Given the description of an element on the screen output the (x, y) to click on. 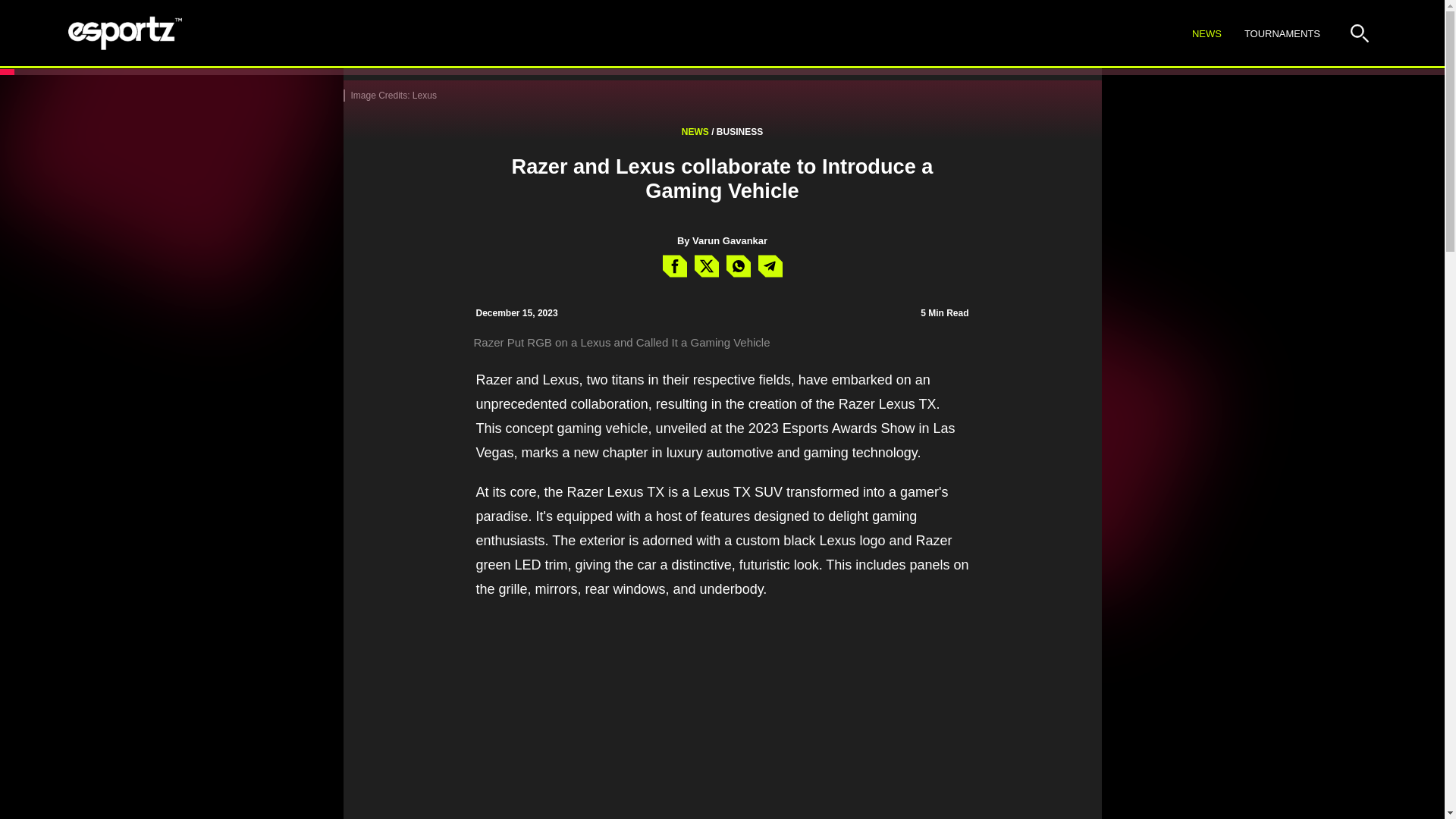
TOURNAMENTS (1282, 34)
ESPORTZ (125, 33)
Search (1359, 33)
BUSINESS (739, 131)
By Varun Gavankar (1267, 33)
NEWS (722, 240)
